Given the description of an element on the screen output the (x, y) to click on. 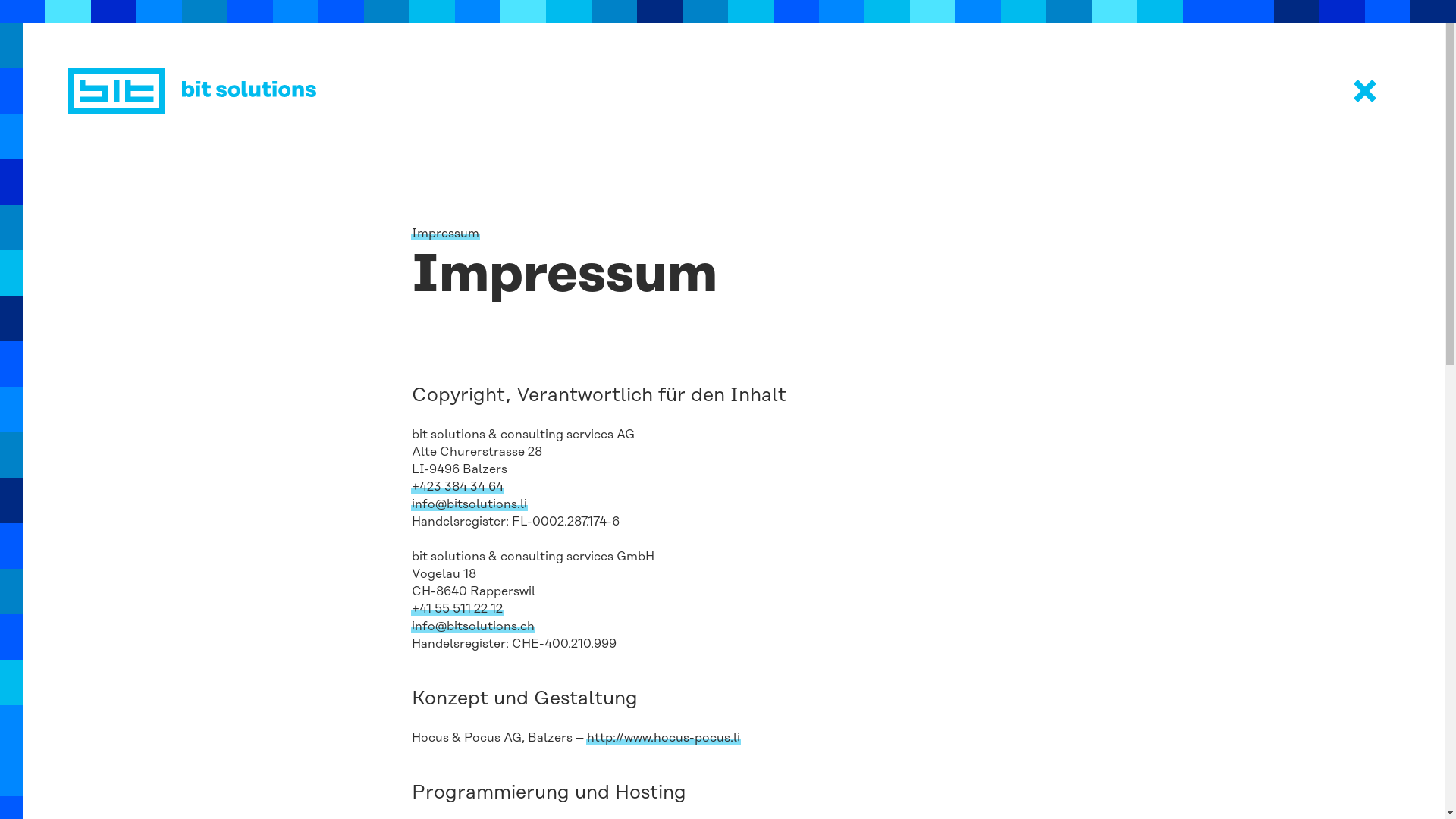
http://www.hocus-pocus.li Element type: text (663, 737)
+41 55 511 22 12 Element type: text (456, 609)
info@bitsolutions.li Element type: text (468, 504)
+423 384 34 64 Element type: text (456, 486)
info@bitsolutions.ch Element type: text (472, 626)
